Given the description of an element on the screen output the (x, y) to click on. 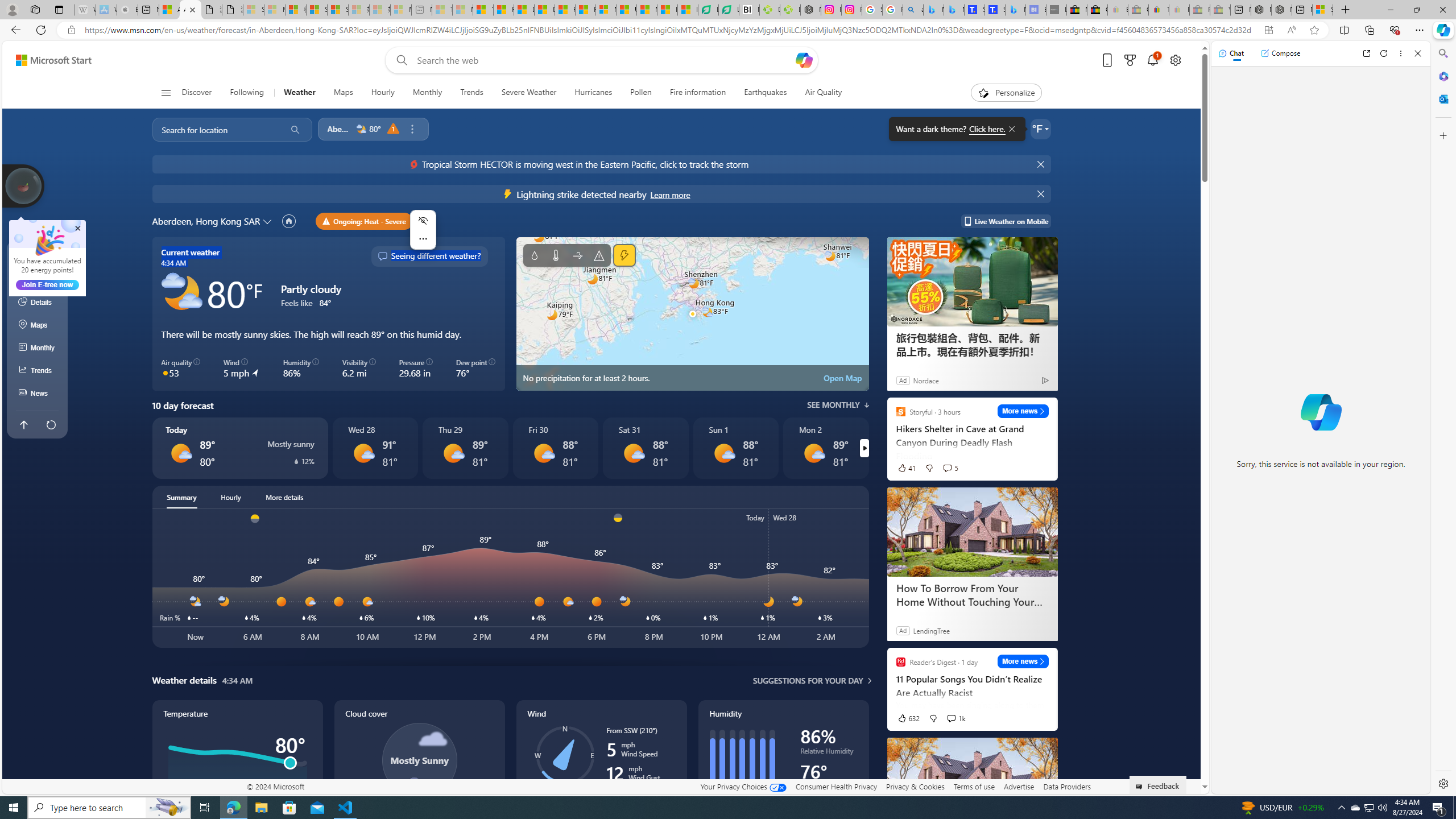
Temperature (556, 254)
Foo BAR | Trusted Community Engagement and Contributions (584, 9)
Marine life - MSN - Sleeping (461, 9)
Join E-tree now (47, 284)
Air Quality (818, 92)
Severe Weather (528, 92)
Relative Humidity (828, 753)
